Given the description of an element on the screen output the (x, y) to click on. 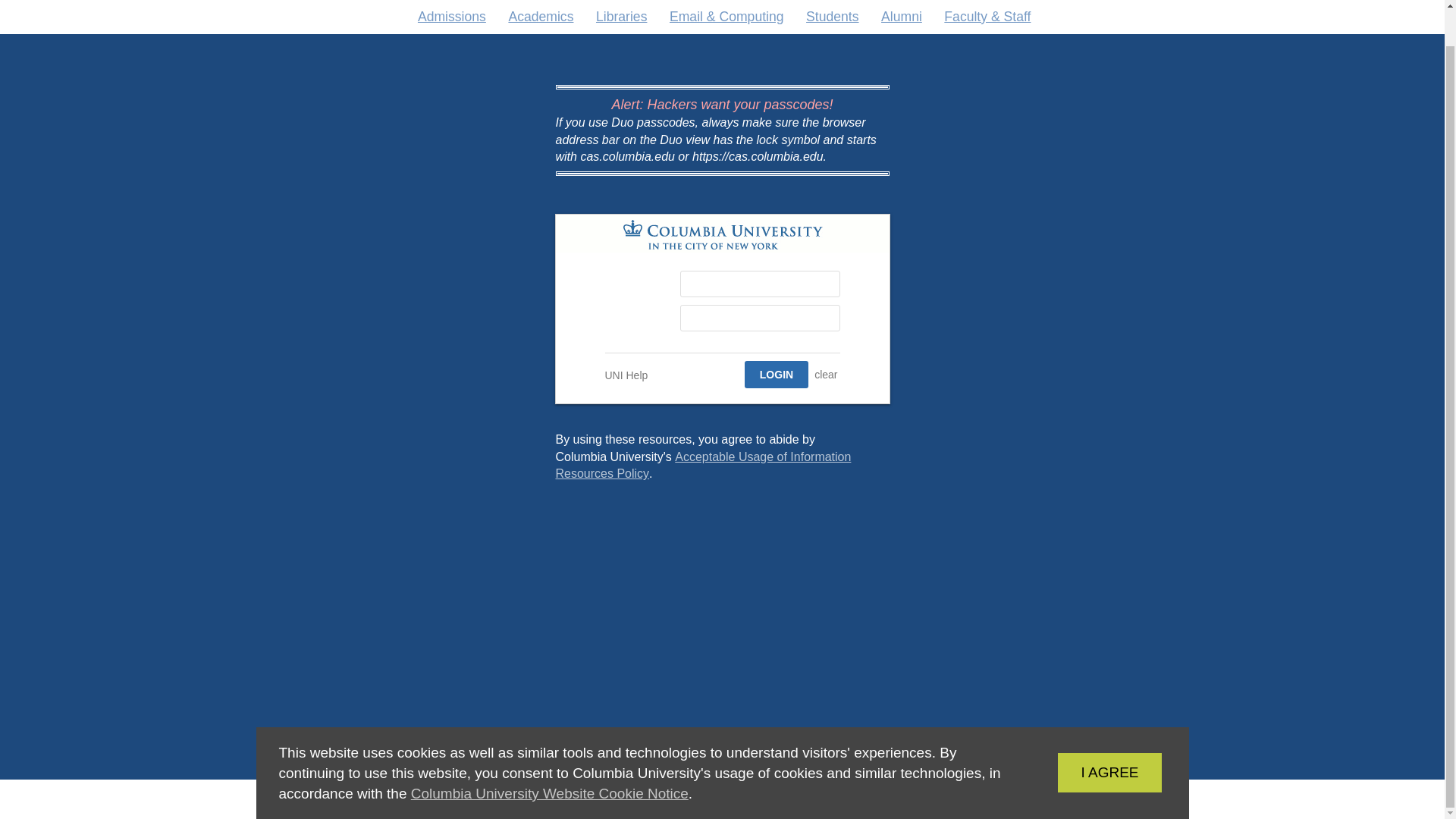
Acceptable Usage of Information Resources Policy (702, 464)
CUIT Service Desk (1086, 734)
UNI Help (770, 760)
CLEAR (626, 375)
LOGIN (826, 374)
LOGIN (776, 374)
Columbia University Website Cookie Notice (776, 374)
